Given the description of an element on the screen output the (x, y) to click on. 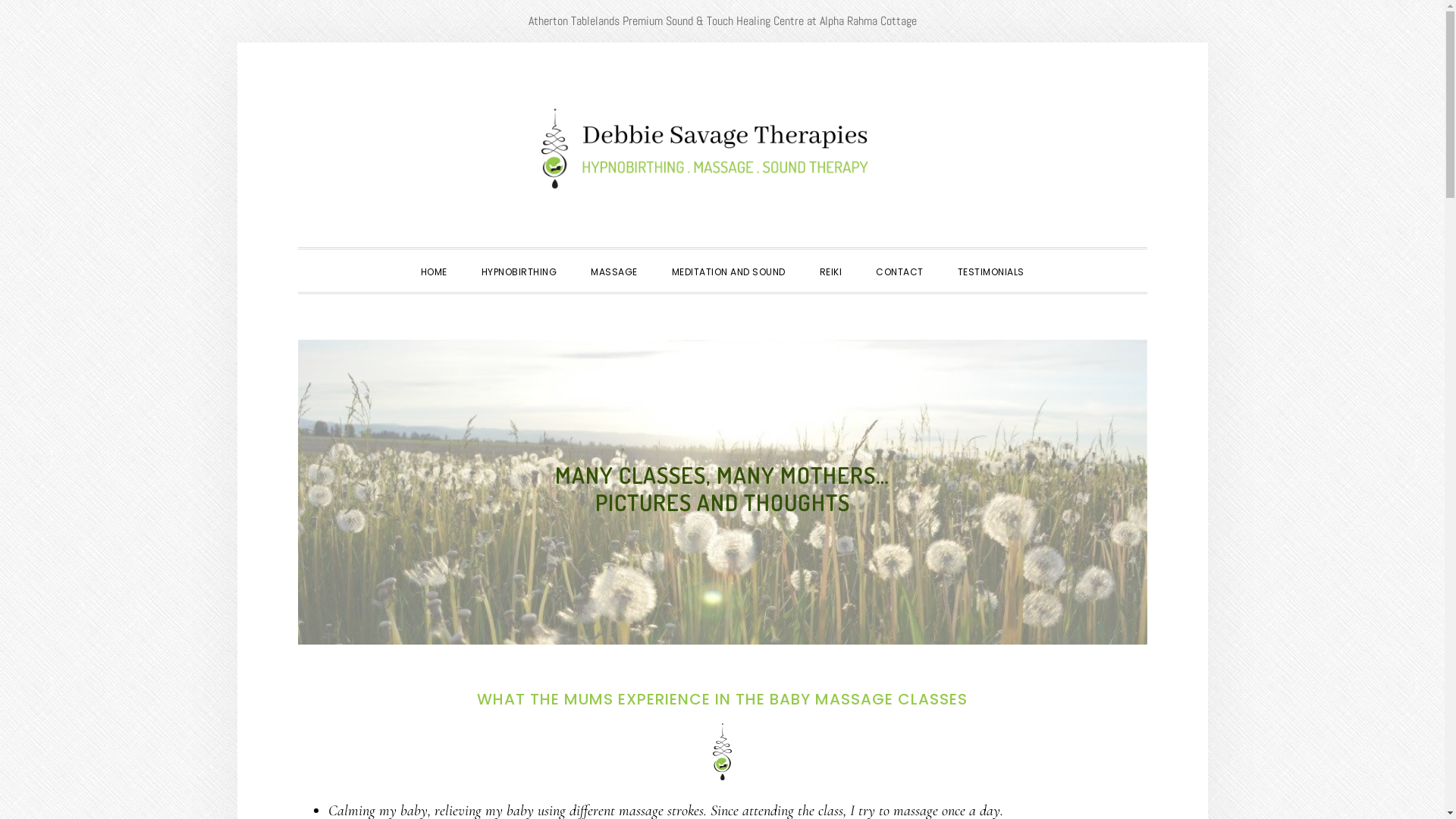
MASSAGE Element type: text (613, 270)
REIKI Element type: text (829, 270)
Skip to primary navigation Element type: text (297, 42)
HYPNOBIRTHING Element type: text (518, 270)
DEBBIE SAVAGE THERAPIES Element type: text (721, 148)
MEDITATION AND SOUND Element type: text (728, 270)
CONTACT Element type: text (899, 270)
HOME Element type: text (432, 270)
TESTIMONIALS Element type: text (989, 270)
